Given the description of an element on the screen output the (x, y) to click on. 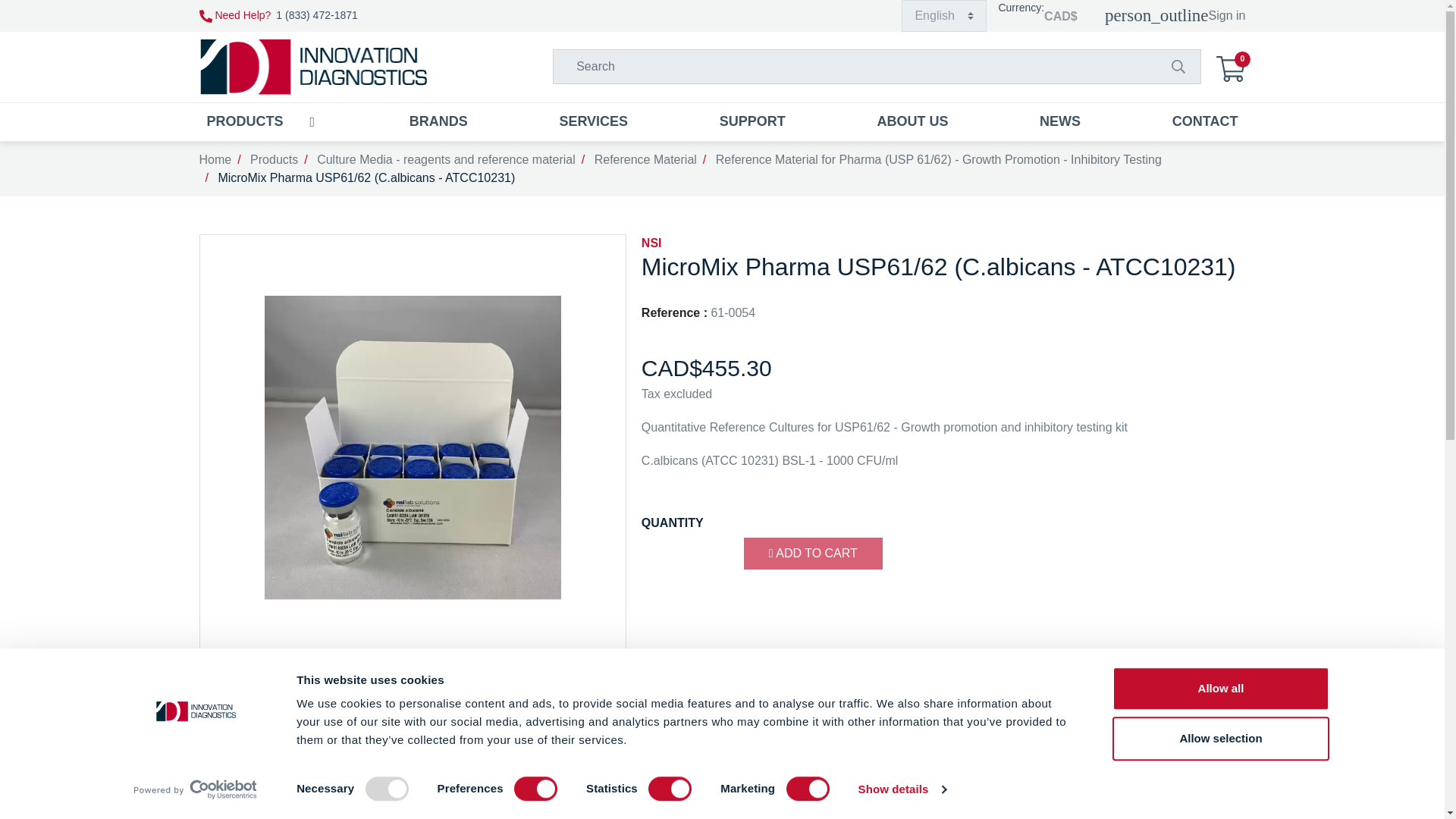
Allow selection (1219, 738)
Show details (900, 789)
Log in to your customer account (1175, 15)
